Given the description of an element on the screen output the (x, y) to click on. 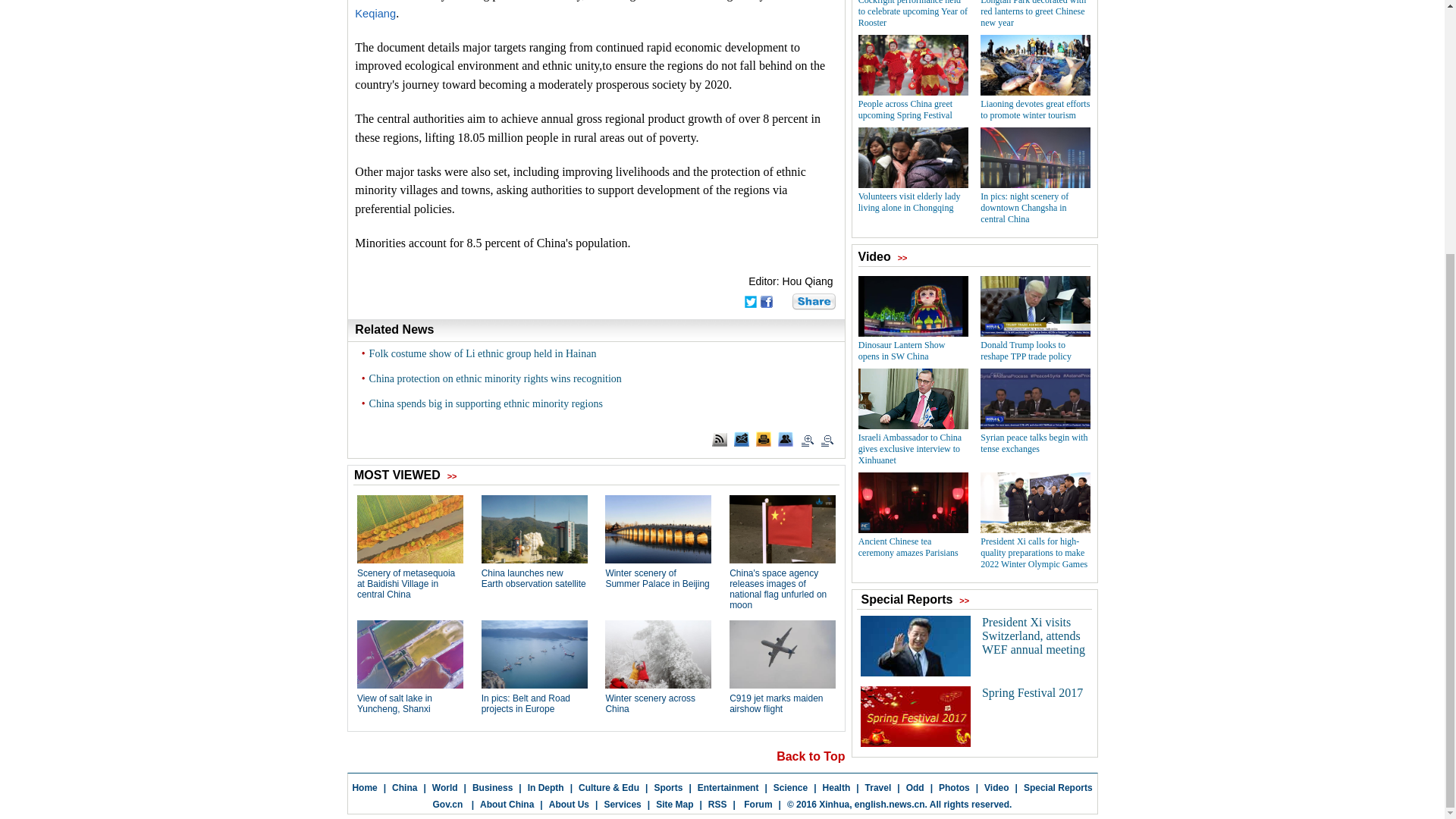
More (813, 301)
